Given the description of an element on the screen output the (x, y) to click on. 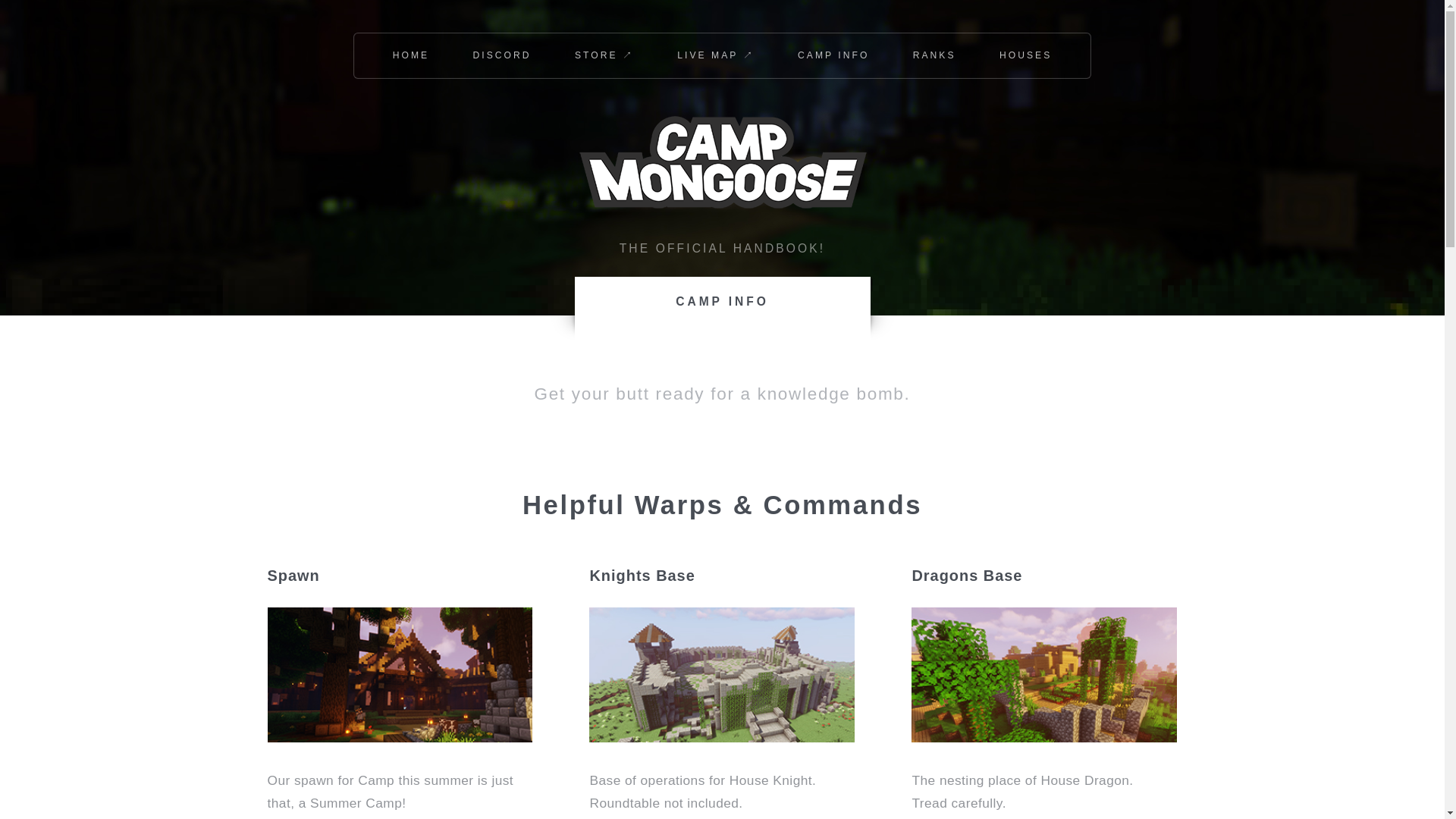
DISCORD (501, 55)
HOUSES (1024, 55)
RANKS (934, 55)
CAMP INFO (833, 55)
